Given the description of an element on the screen output the (x, y) to click on. 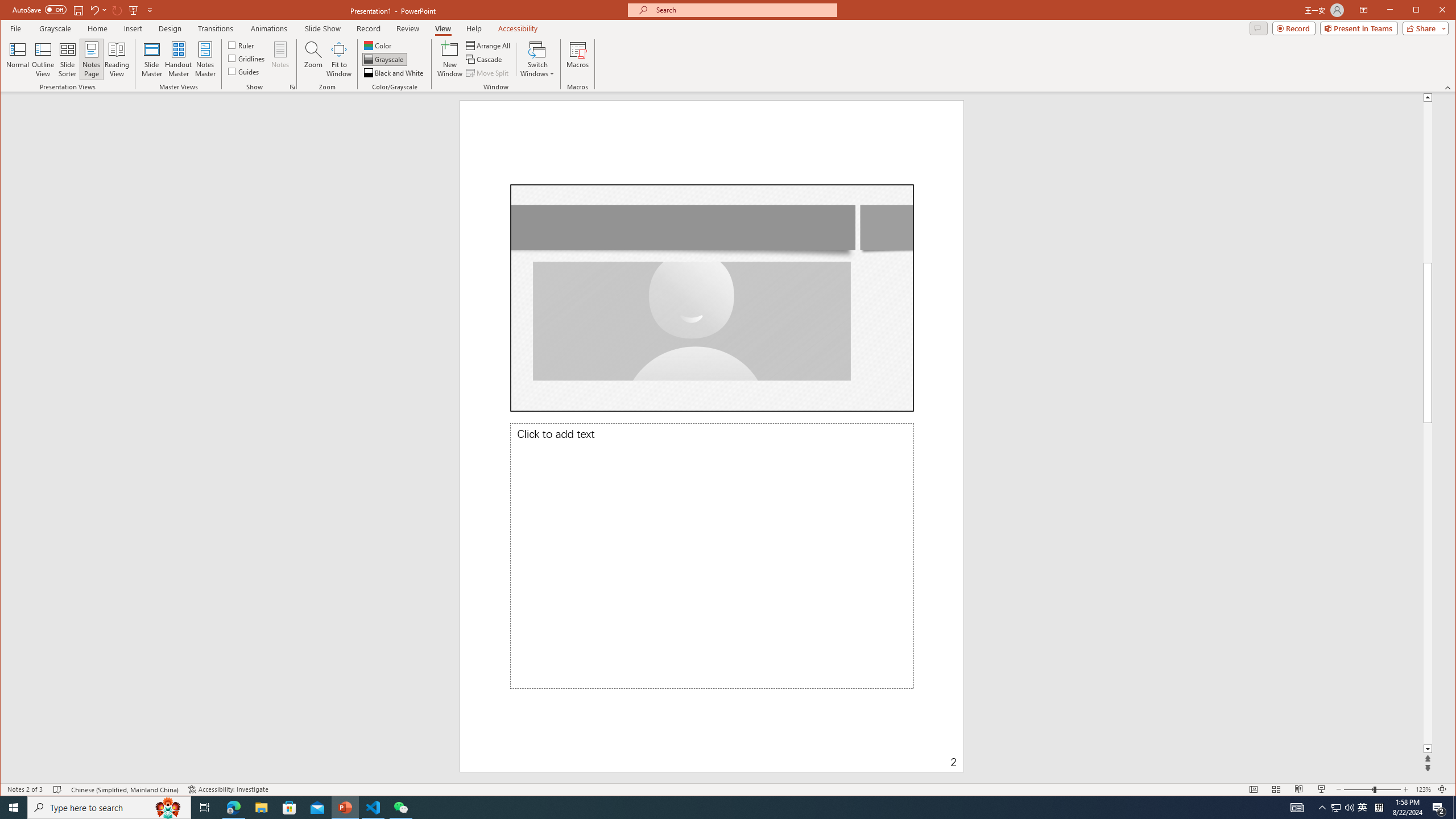
Move Split (488, 72)
Page Number (854, 754)
